Given the description of an element on the screen output the (x, y) to click on. 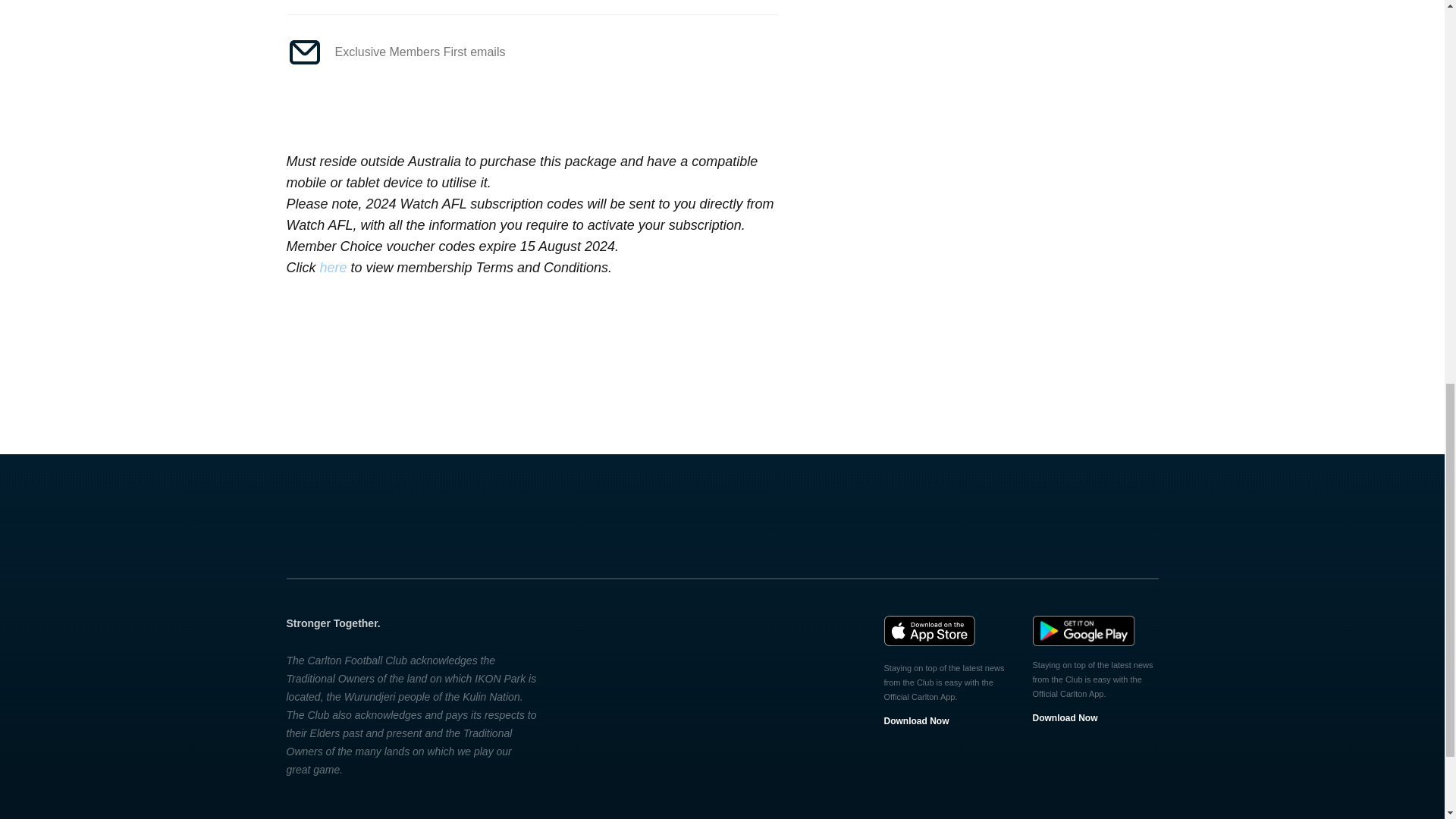
Download Now (1064, 717)
here (333, 267)
Download Now (916, 720)
